Given the description of an element on the screen output the (x, y) to click on. 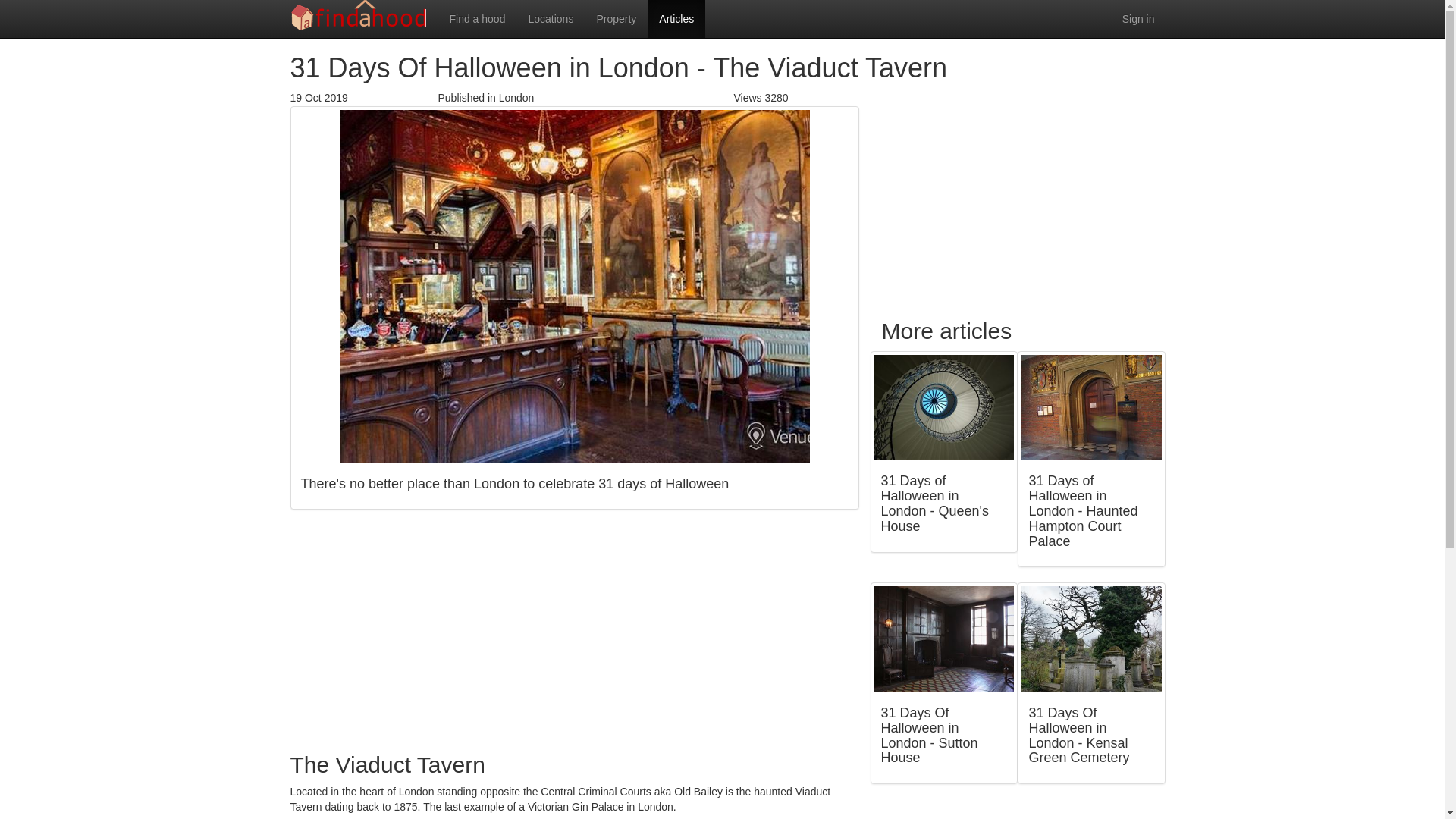
Sign in (1138, 18)
Advertisement (1017, 196)
Locations (550, 18)
Property (616, 18)
Articles (675, 18)
Find a hood (477, 18)
Advertisement (574, 630)
Advertisement (1017, 809)
